Given the description of an element on the screen output the (x, y) to click on. 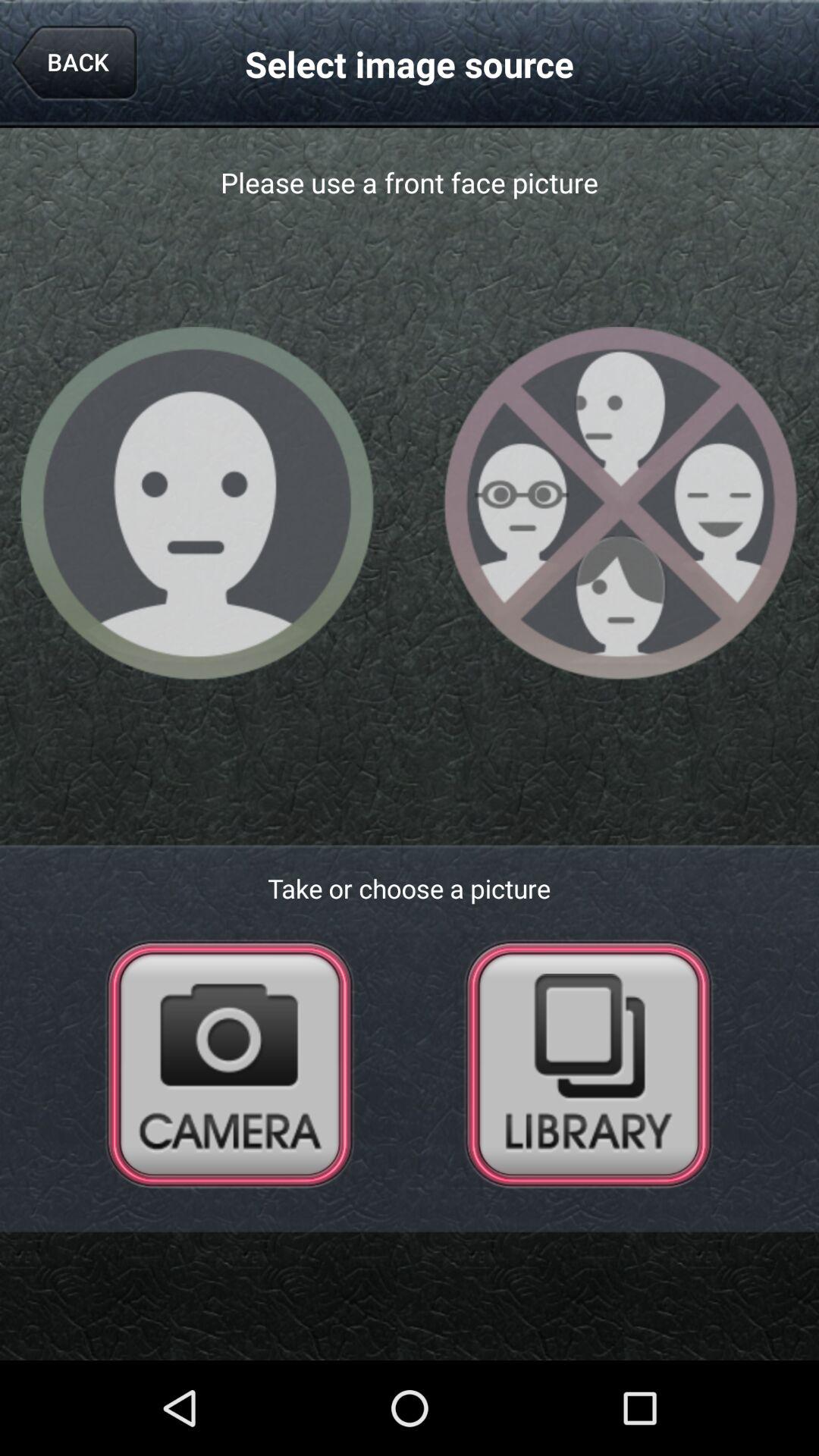
go to photo library (588, 1063)
